Given the description of an element on the screen output the (x, y) to click on. 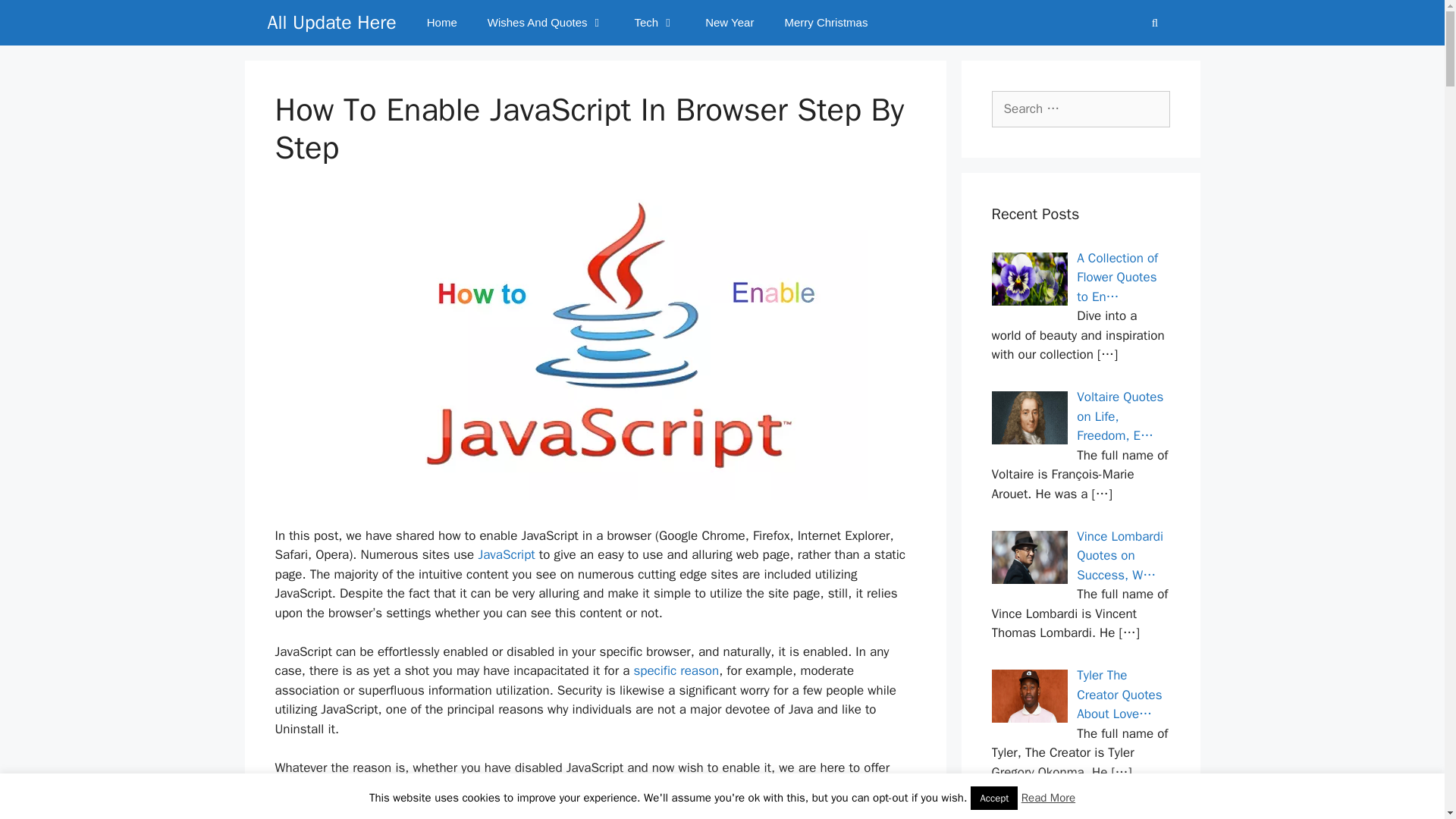
Merry Christmas (825, 22)
Tech (654, 22)
JavaScript (507, 554)
Home (441, 22)
All Update Here (331, 22)
Search for: (1080, 108)
New Year (729, 22)
Wishes And Quotes (545, 22)
